Given the description of an element on the screen output the (x, y) to click on. 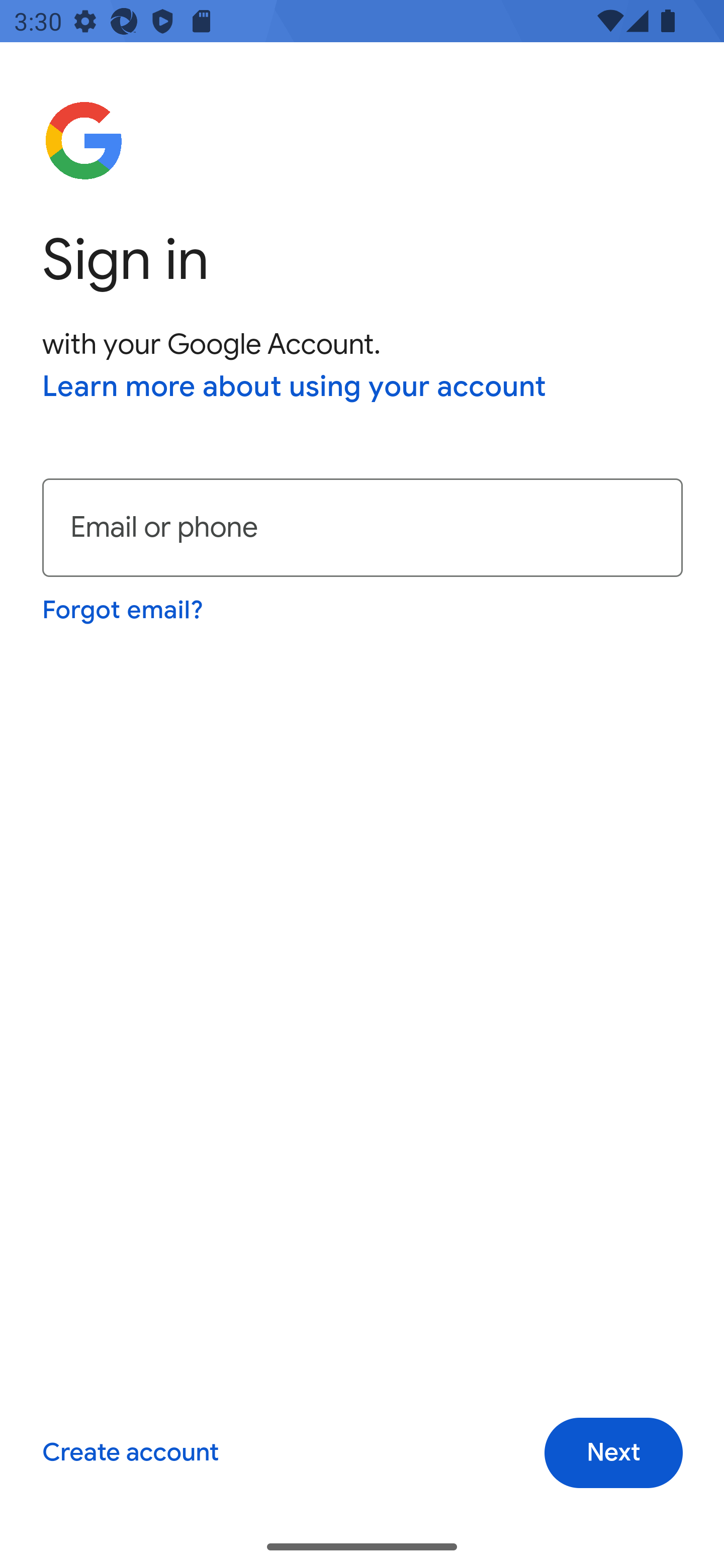
Learn more about using your account (294, 388)
Forgot email? (123, 609)
Create account (129, 1453)
Next (613, 1453)
